Given the description of an element on the screen output the (x, y) to click on. 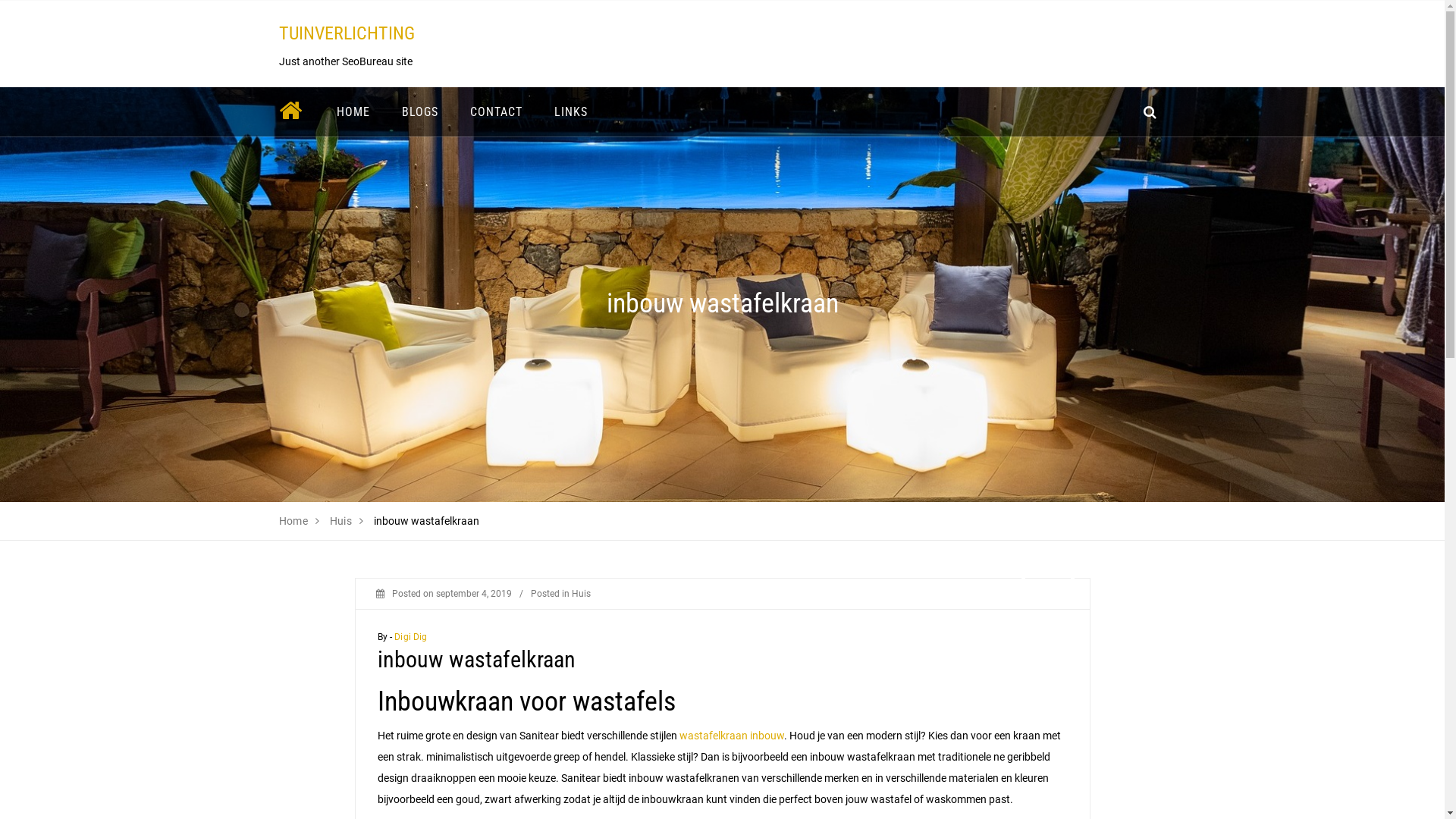
TUINVERLICHTING Element type: text (346, 32)
Huis Element type: text (580, 593)
Huis Element type: text (340, 520)
Digi Dig Element type: text (410, 636)
HOME Element type: text (352, 111)
Home Element type: text (293, 520)
CONTACT Element type: text (495, 111)
september 4, 2019 Element type: text (473, 593)
wastafelkraan inbouw Element type: text (731, 735)
search_icon Element type: hover (1148, 111)
LINKS Element type: text (570, 111)
BLOGS Element type: text (419, 111)
